Given the description of an element on the screen output the (x, y) to click on. 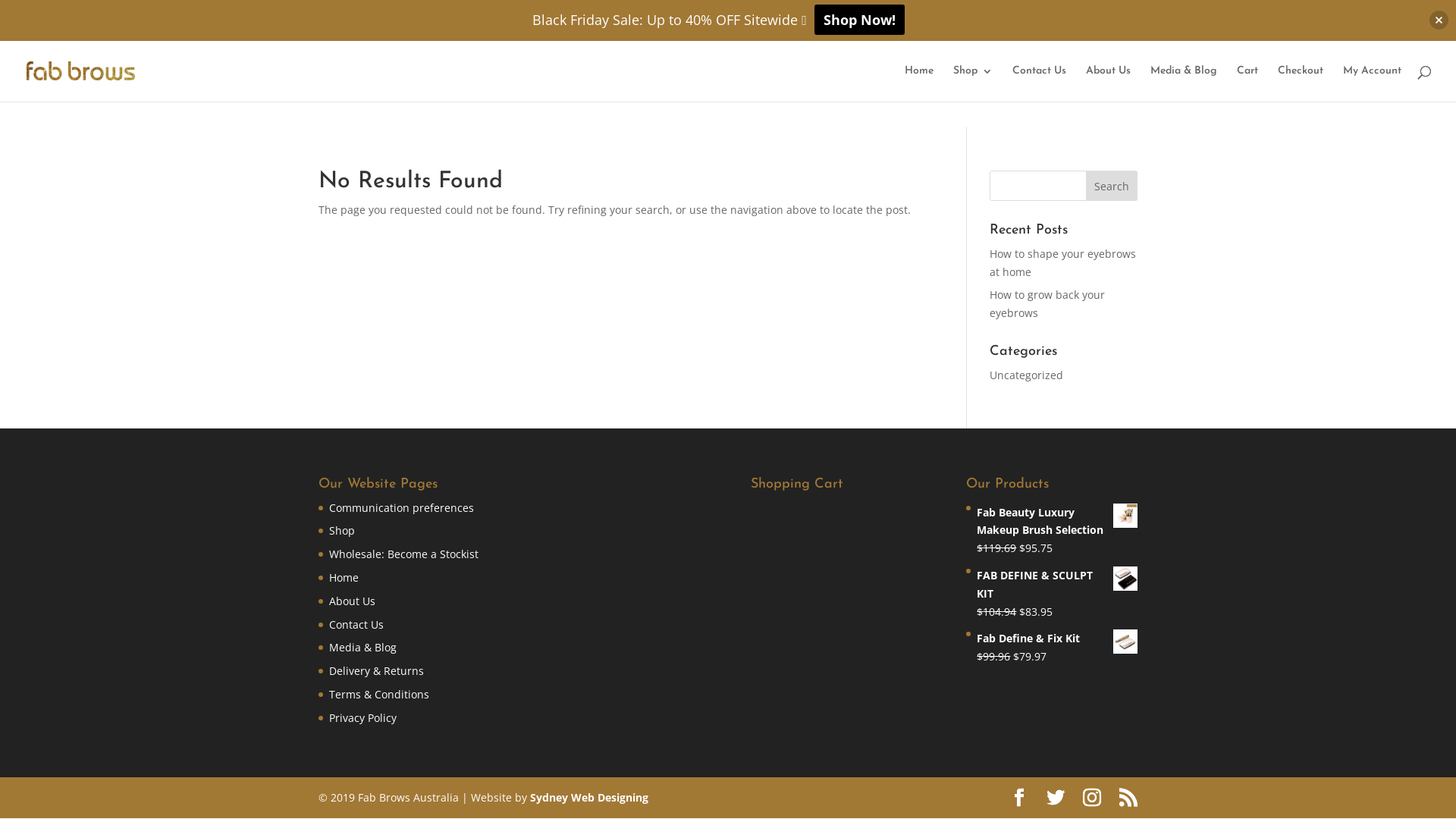
Home Element type: text (918, 83)
Contact Us Element type: text (356, 624)
Contact Us Element type: text (1039, 83)
Home Element type: text (343, 577)
Checkout Element type: text (1300, 83)
Media & Blog Element type: text (362, 647)
0 Items Element type: text (1409, 12)
Uncategorized Element type: text (1026, 374)
About Us Element type: text (1107, 83)
Shop Element type: text (972, 83)
How to shape your eyebrows at home Element type: text (1062, 262)
Shop Now! Element type: text (859, 19)
How to grow back your eyebrows Element type: text (1046, 303)
About Us Element type: text (352, 600)
Delivery & Returns Element type: text (376, 670)
Sydney Web Designing Element type: text (589, 797)
Communication preferences Element type: text (401, 507)
Shop Element type: text (341, 530)
Wholesale: Become a Stockist Element type: text (403, 553)
Fab Beauty Luxury Makeup Brush Selection Element type: text (1056, 521)
Cart Element type: text (1247, 83)
Media & Blog Element type: text (1183, 83)
Privacy Policy Element type: text (362, 717)
Fab Define & Fix Kit Element type: text (1056, 638)
My Account Element type: text (1372, 83)
Terms & Conditions Element type: text (379, 694)
FAB DEFINE & SCULPT KIT Element type: text (1056, 584)
info@fabbrows.com.au Element type: text (76, 12)
Search Element type: text (1111, 185)
